Given the description of an element on the screen output the (x, y) to click on. 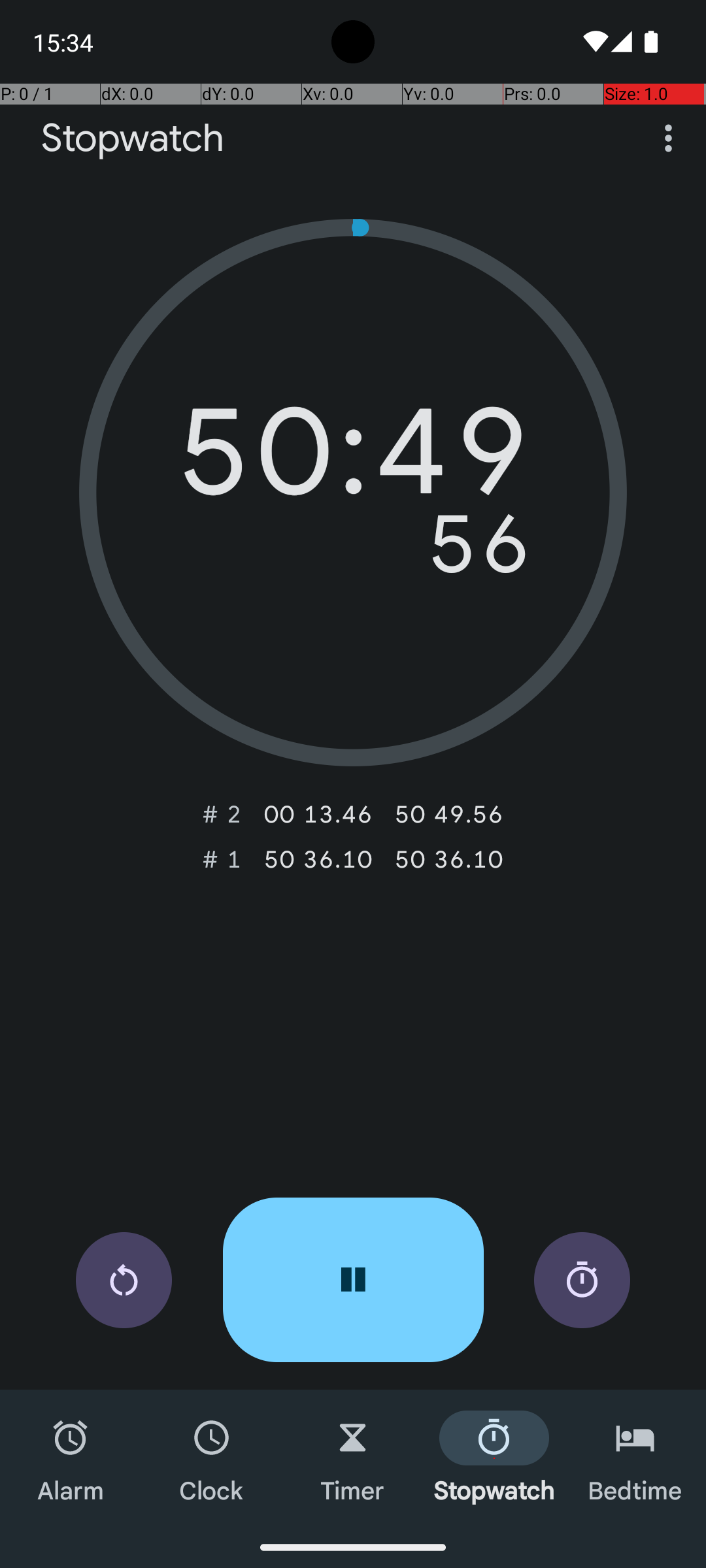
Lap Element type: android.widget.ImageButton (582, 1280)
50:49 Element type: android.widget.TextView (352, 460)
# 2 Element type: android.widget.TextView (221, 814)
00‎ 13.41 Element type: android.widget.TextView (317, 814)
50‎ 49.51 Element type: android.widget.TextView (448, 814)
# 1 Element type: android.widget.TextView (221, 859)
50‎ 36.10 Element type: android.widget.TextView (317, 859)
Wifi signal full. Element type: android.widget.FrameLayout (593, 41)
